Given the description of an element on the screen output the (x, y) to click on. 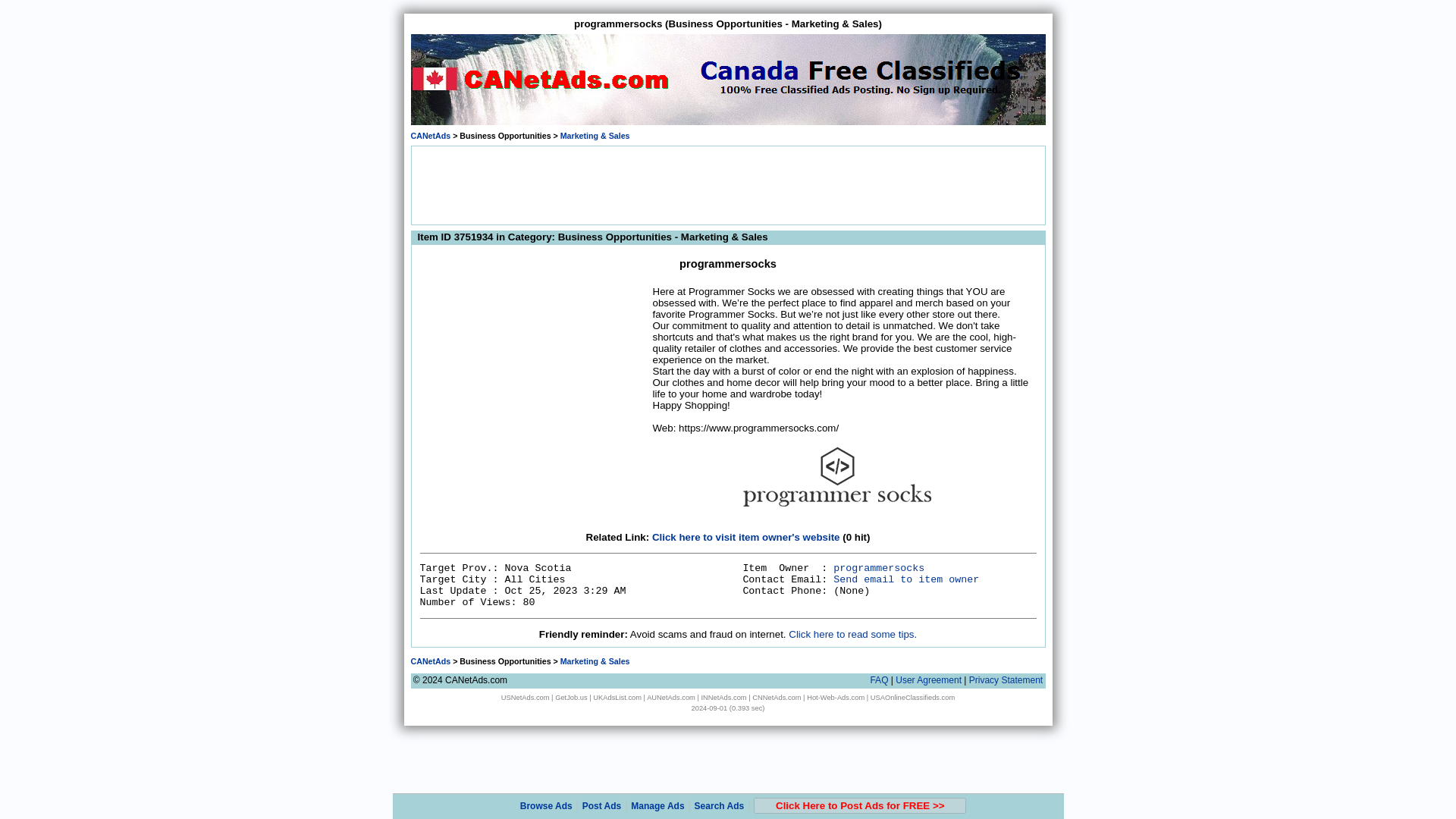
FAQ (878, 679)
Click here to read some tips. (853, 633)
CANetAds (430, 660)
Go Back to CANetAds.com Home Page (430, 660)
Privacy Statement (1005, 679)
Browse all items posted by this owner (878, 568)
Hot-Web-Ads.com (835, 697)
USAOnlineClassifieds.com (912, 697)
Send email to item owner (905, 579)
Click here to visit item owner's website (746, 536)
